Given the description of an element on the screen output the (x, y) to click on. 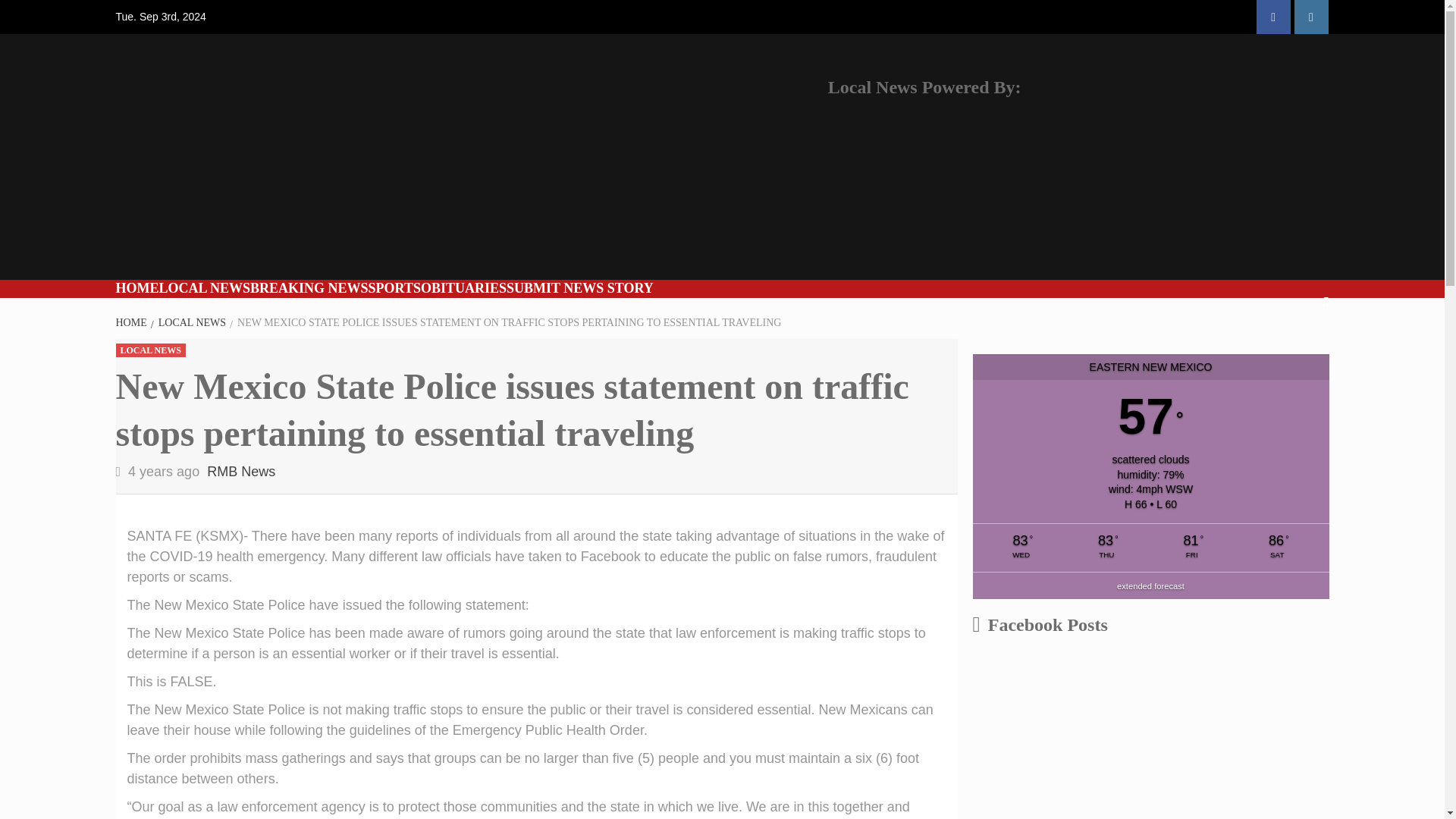
LOCAL NEWS (190, 322)
LOCAL NEWS (204, 287)
Instagram (1310, 17)
RMB News (240, 471)
Facebook (1273, 17)
BREAKING NEWS (309, 287)
SUBMIT NEWS STORY (579, 287)
HOME (132, 322)
OBITUARIES (463, 287)
LOCAL NEWS (149, 350)
